Given the description of an element on the screen output the (x, y) to click on. 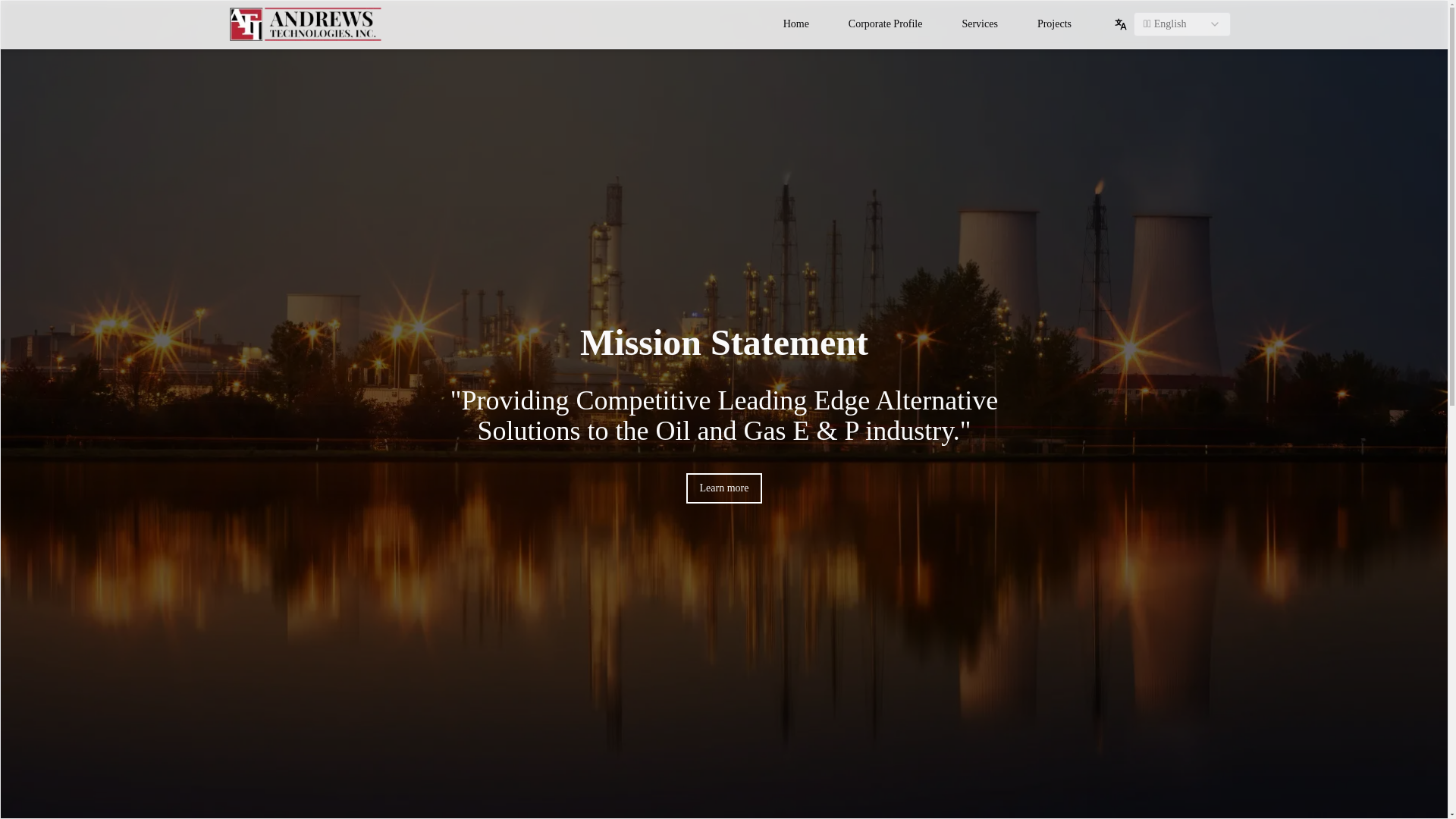
Corporate Profile (884, 24)
Home (796, 24)
Projects (1054, 24)
Services (979, 24)
Learn more (723, 488)
